Given the description of an element on the screen output the (x, y) to click on. 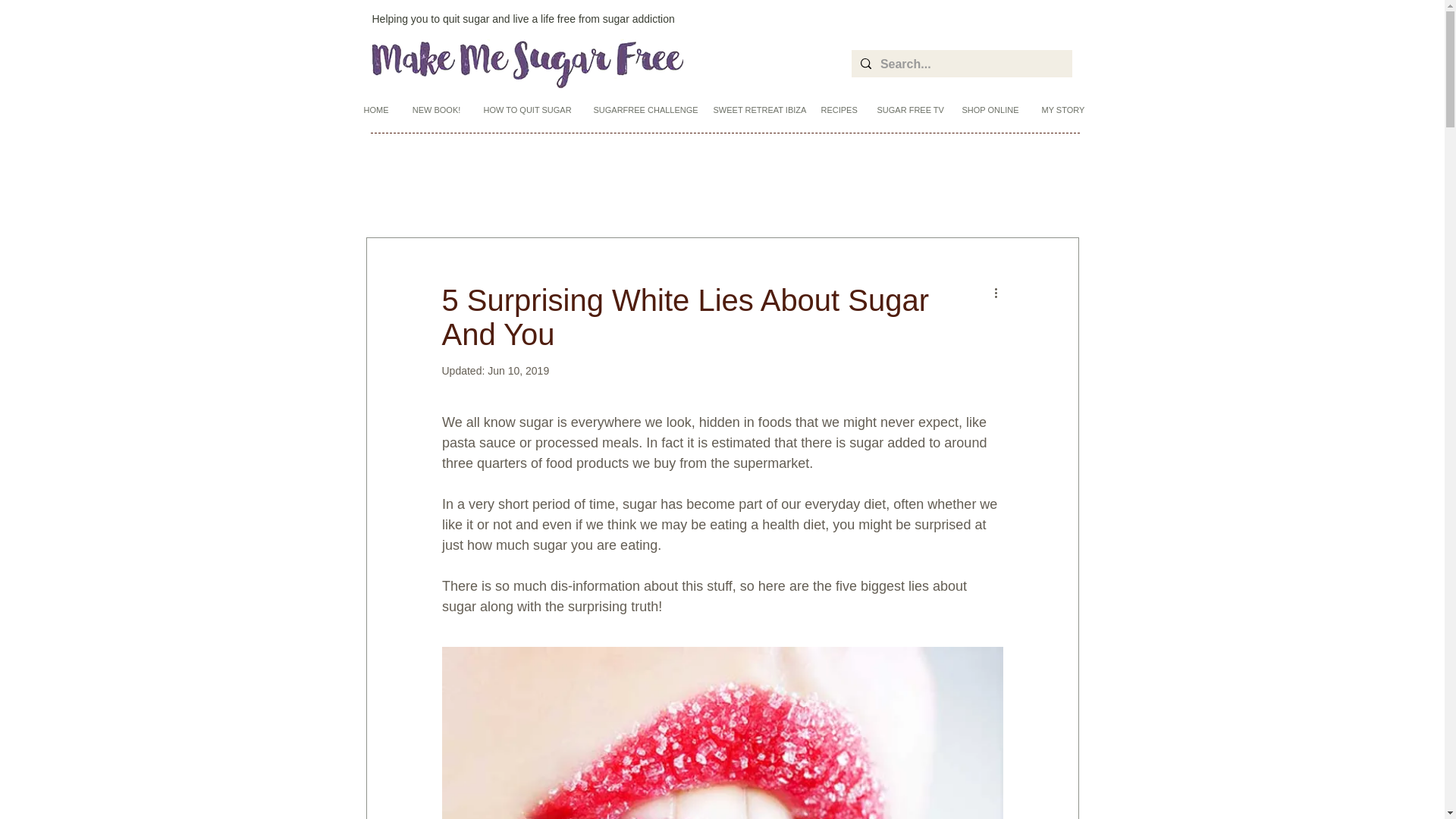
SUGARFREE CHALLENGE (641, 109)
MY STORY (1061, 109)
HOME (376, 109)
NEW BOOK! (435, 109)
Make me sugar free (526, 63)
SUGAR FREE TV (908, 109)
HOW TO QUIT SUGAR (525, 109)
Jun 10, 2019 (517, 370)
SWEET RETREAT IBIZA (755, 109)
